Given the description of an element on the screen output the (x, y) to click on. 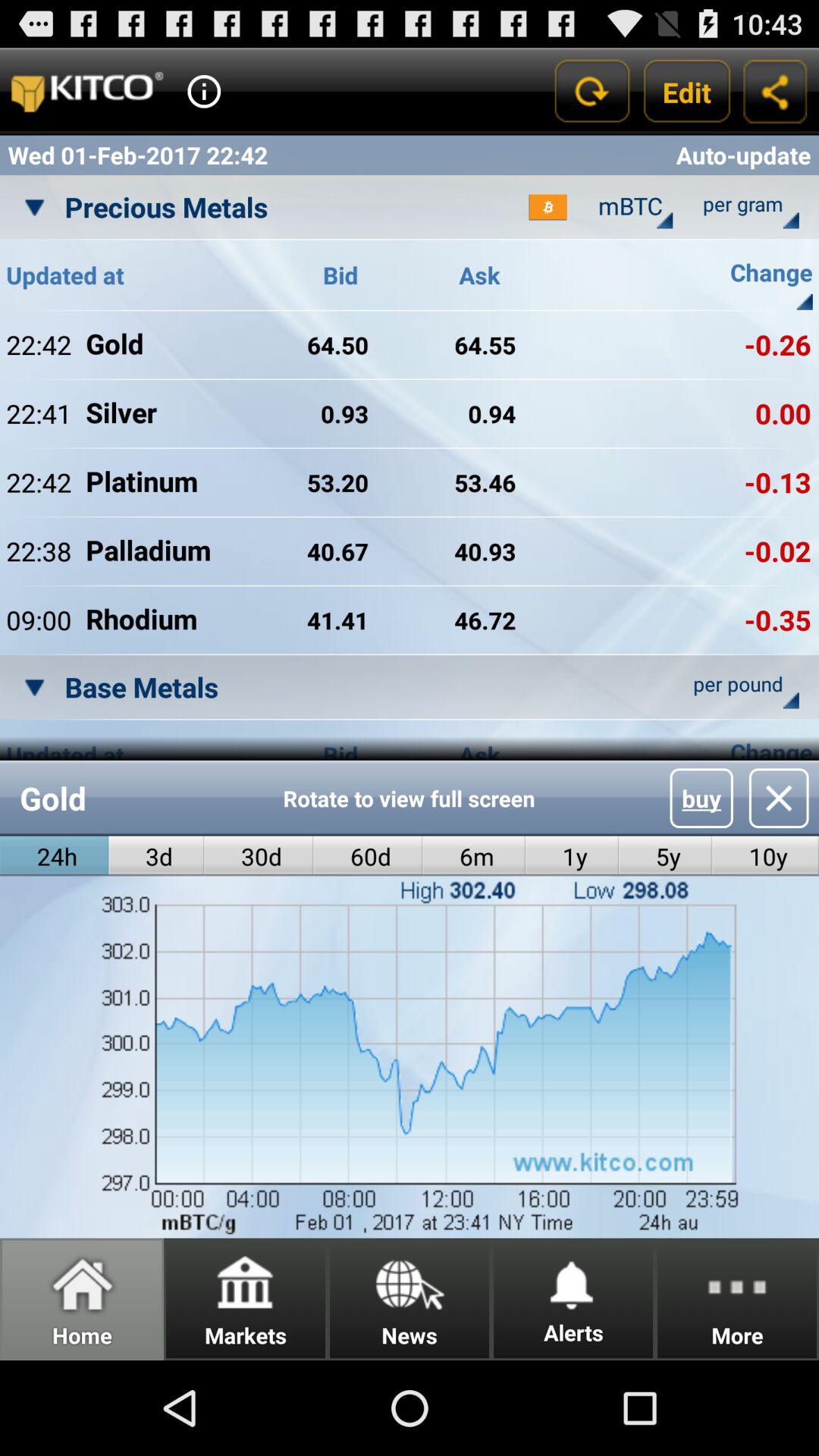
select icon to the right of 1y (701, 798)
